Given the description of an element on the screen output the (x, y) to click on. 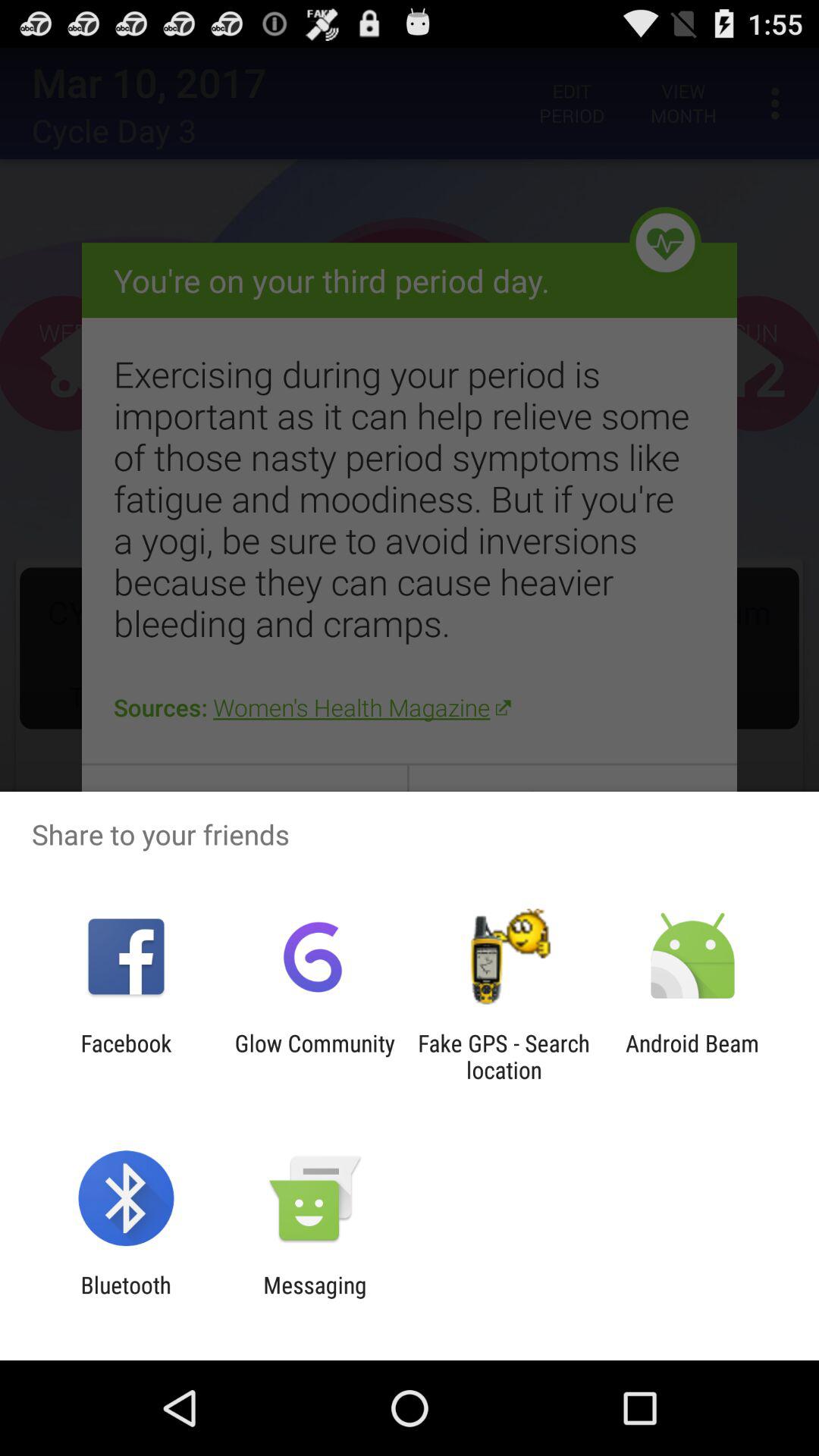
turn off the icon to the left of glow community icon (125, 1056)
